Given the description of an element on the screen output the (x, y) to click on. 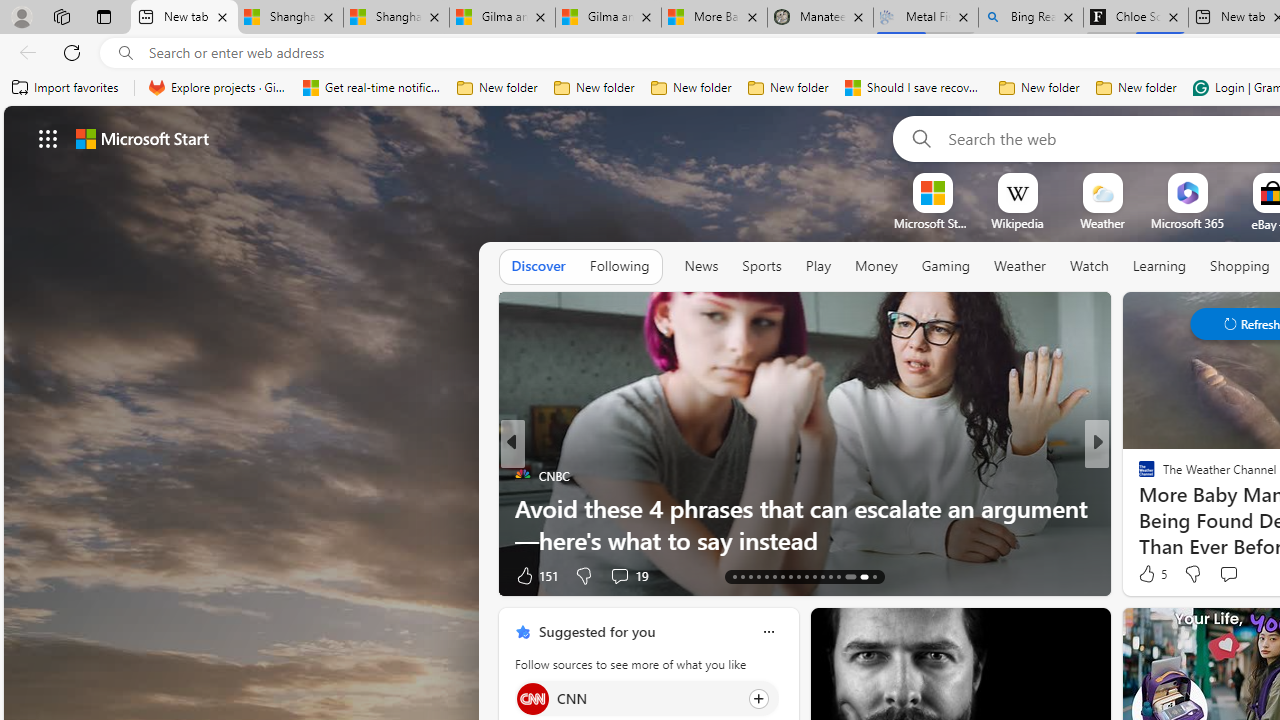
New folder (1136, 88)
